Given the description of an element on the screen output the (x, y) to click on. 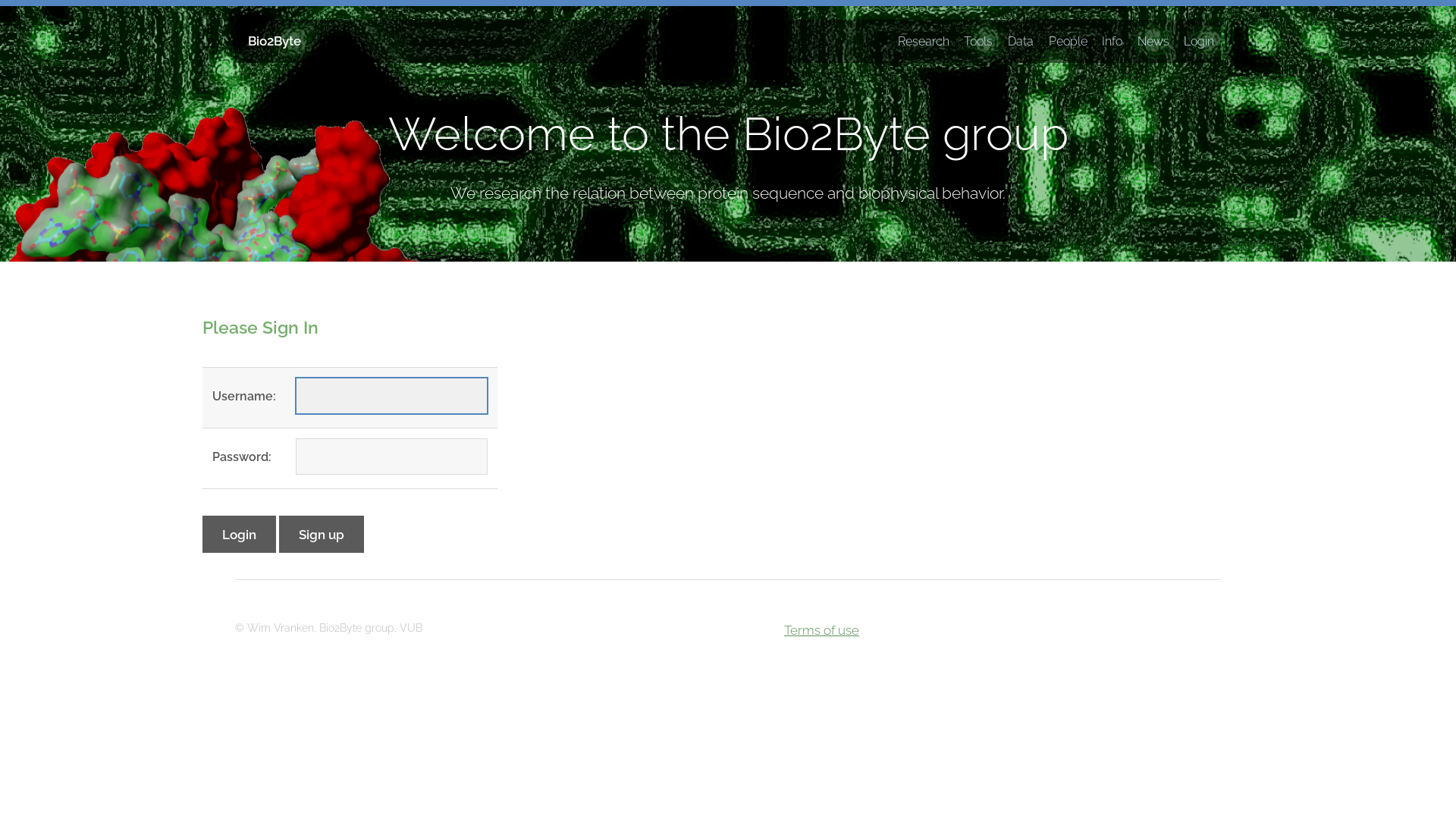
Sign up Element type: text (321, 533)
Data Element type: text (1020, 41)
Tools Element type: text (978, 41)
Info Element type: text (1111, 41)
Login Element type: text (239, 533)
Terms of use Element type: text (821, 629)
People Element type: text (1067, 41)
Research Element type: text (923, 41)
Bio2Byte Element type: text (268, 40)
Login Element type: text (1196, 41)
News Element type: text (1153, 41)
